Given the description of an element on the screen output the (x, y) to click on. 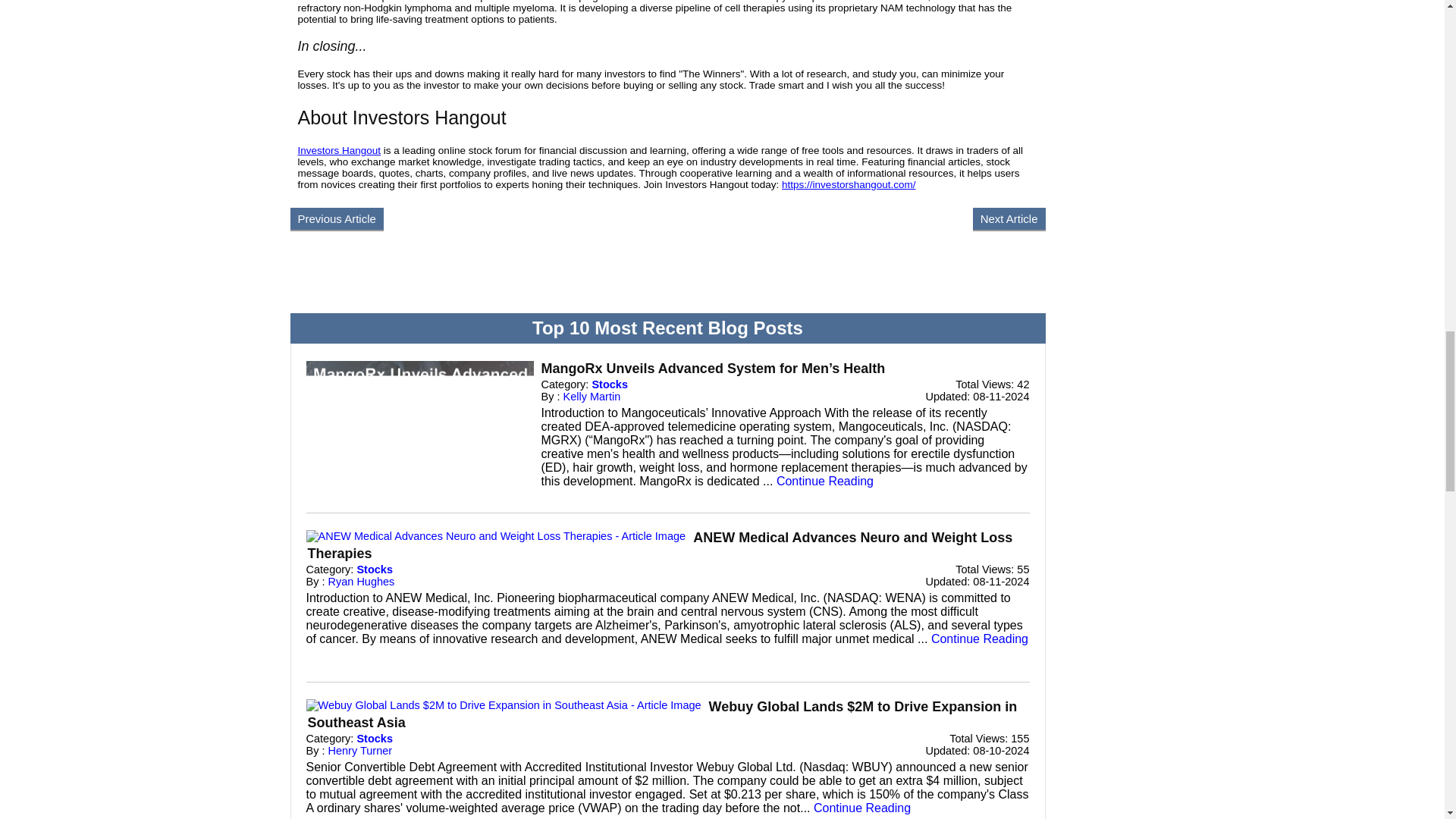
Blog Category: Stocks (609, 384)
Blog Category: Stocks (374, 738)
Next Article (1008, 218)
Previous Article (335, 218)
Article Author: Henry Turner's Profile (361, 750)
Blog Category: Stocks (374, 569)
Article Author: Ryan Hughes's Profile (361, 581)
